Given the description of an element on the screen output the (x, y) to click on. 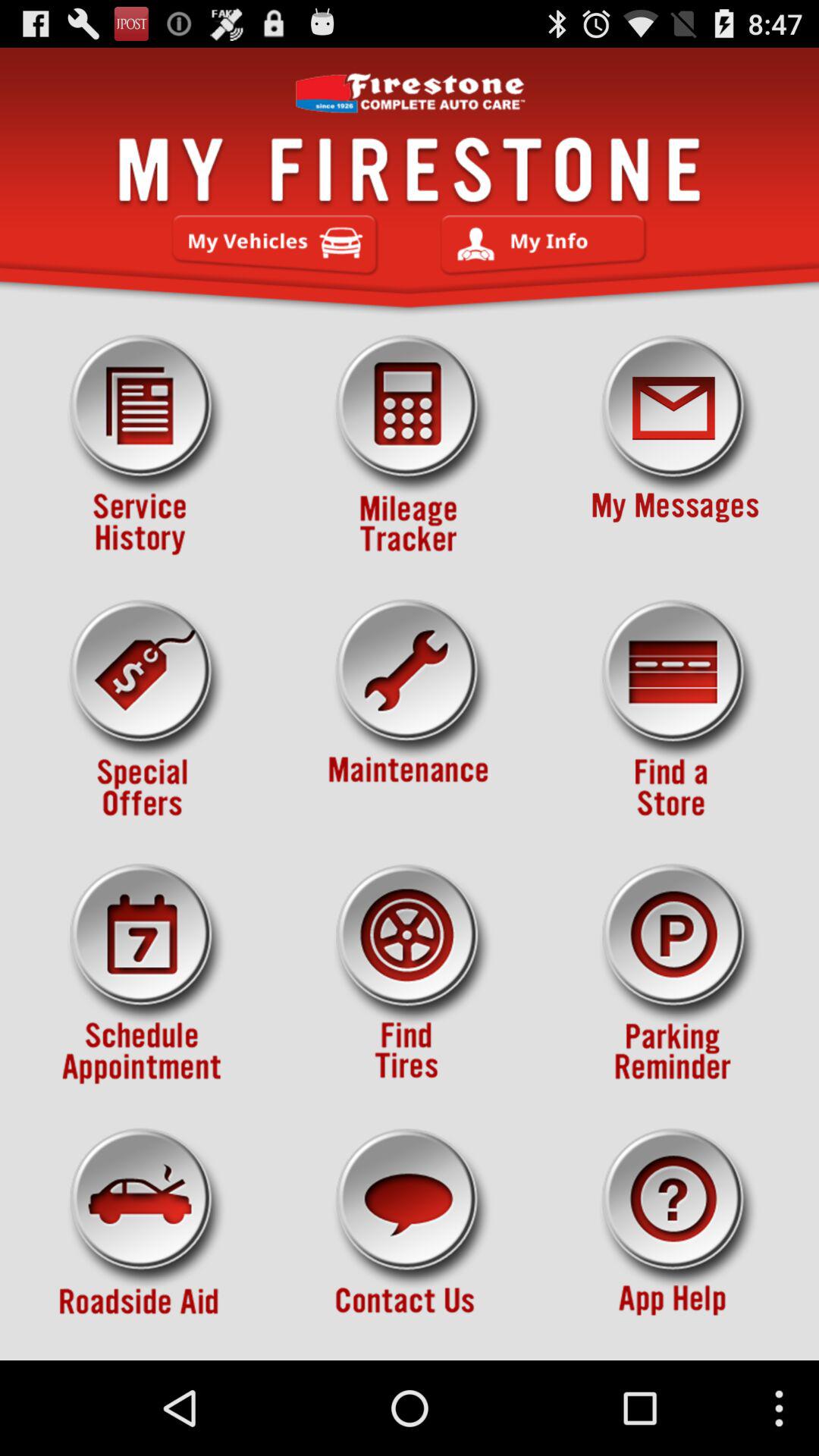
special offers icon (143, 709)
